Given the description of an element on the screen output the (x, y) to click on. 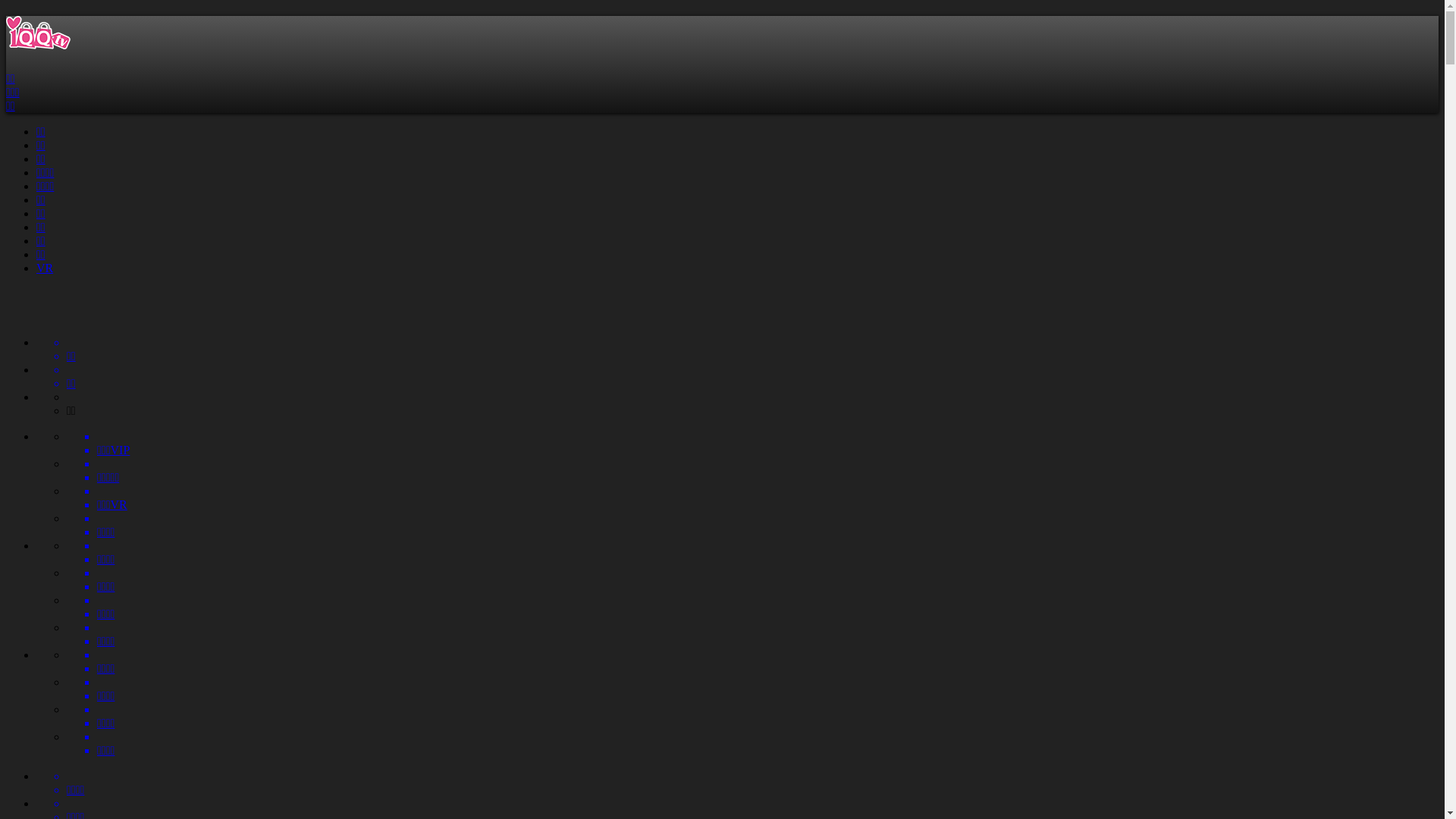
VR Element type: text (44, 267)
